Given the description of an element on the screen output the (x, y) to click on. 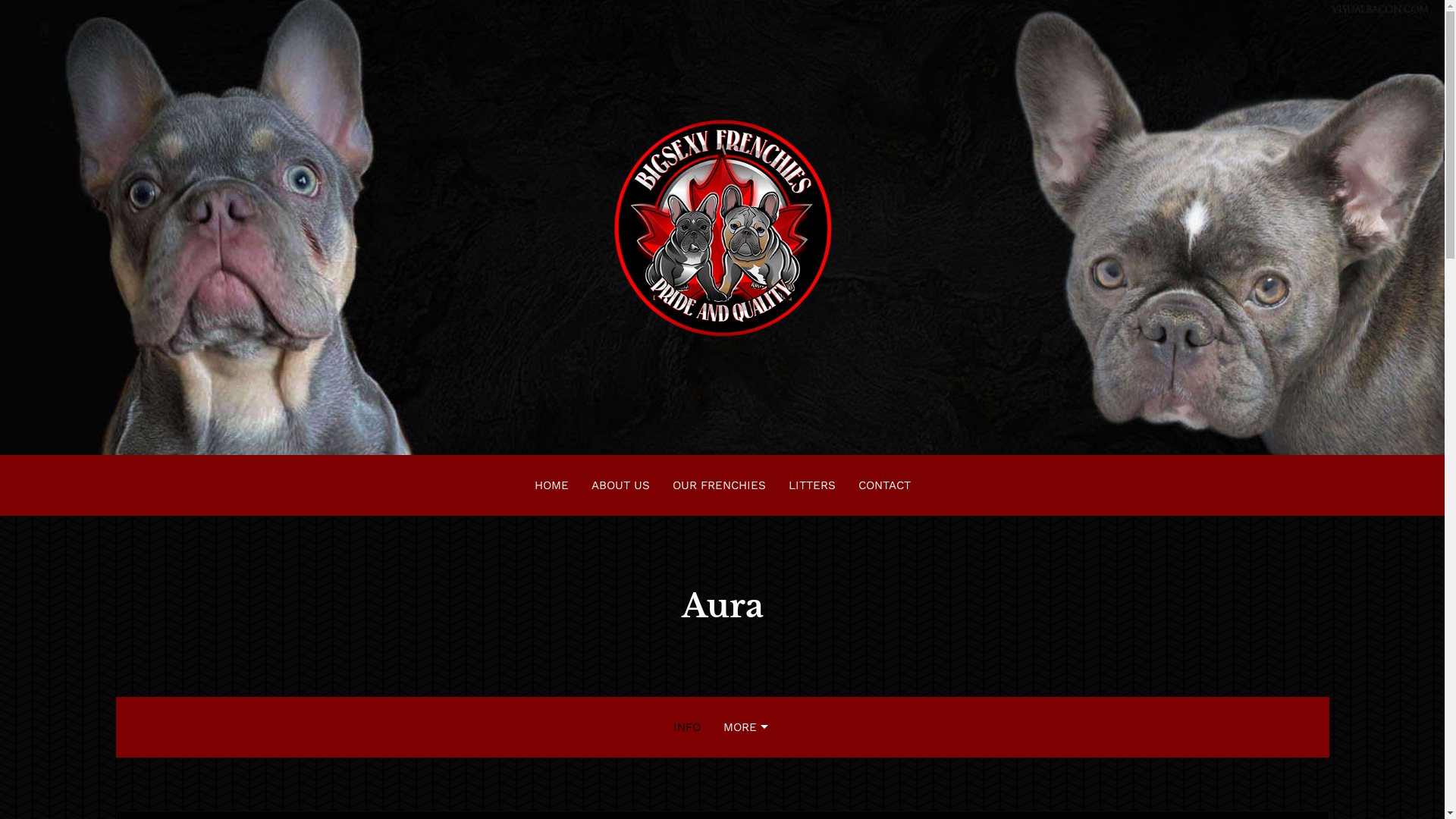
INFO Element type: text (686, 726)
MORE Element type: text (746, 726)
ABOUT US Element type: text (619, 485)
CONTACT Element type: text (883, 485)
HOME Element type: text (551, 485)
LITTERS Element type: text (811, 485)
OUR FRENCHIES Element type: text (719, 485)
Bigsexy Frenchies Element type: hover (721, 227)
